Given the description of an element on the screen output the (x, y) to click on. 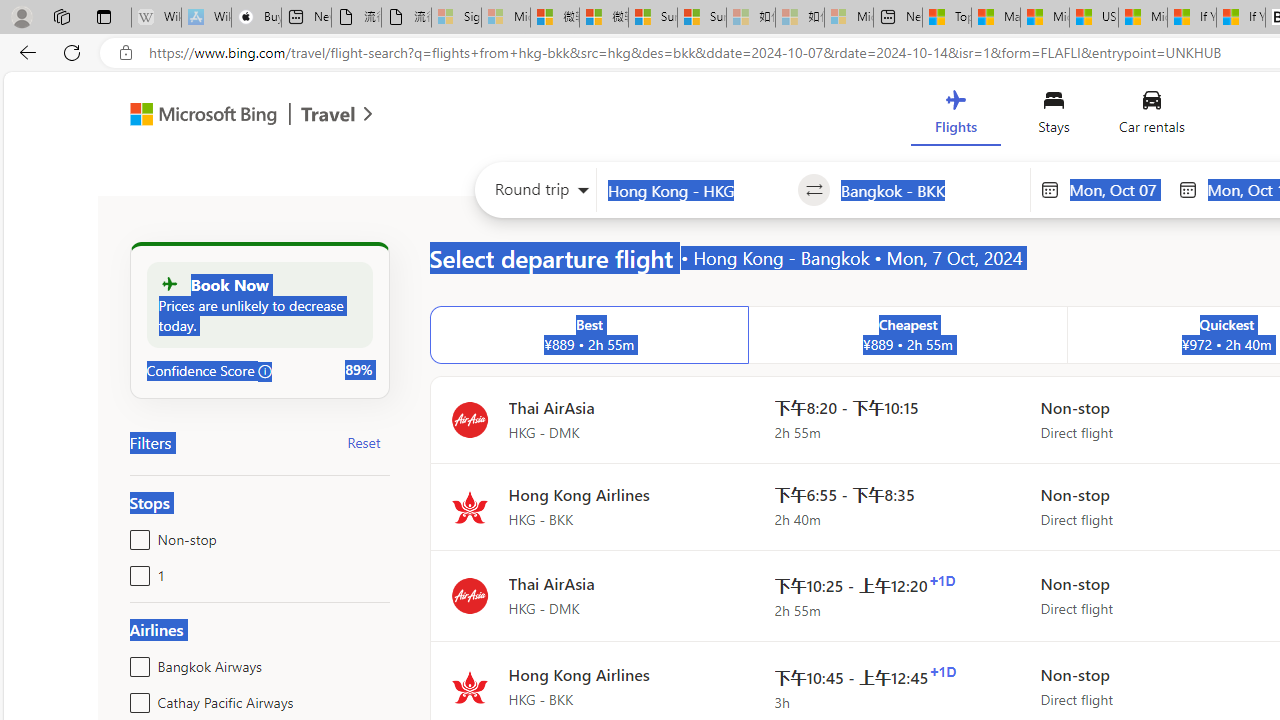
Sign in to your Microsoft account - Sleeping (456, 17)
Car rentals (1150, 116)
Microsoft Bing (194, 116)
1 (136, 571)
Cathay Pacific Airways (136, 698)
Info tooltip (265, 371)
Marine life - MSN (995, 17)
Start Date (1118, 189)
Flights (955, 116)
